Given the description of an element on the screen output the (x, y) to click on. 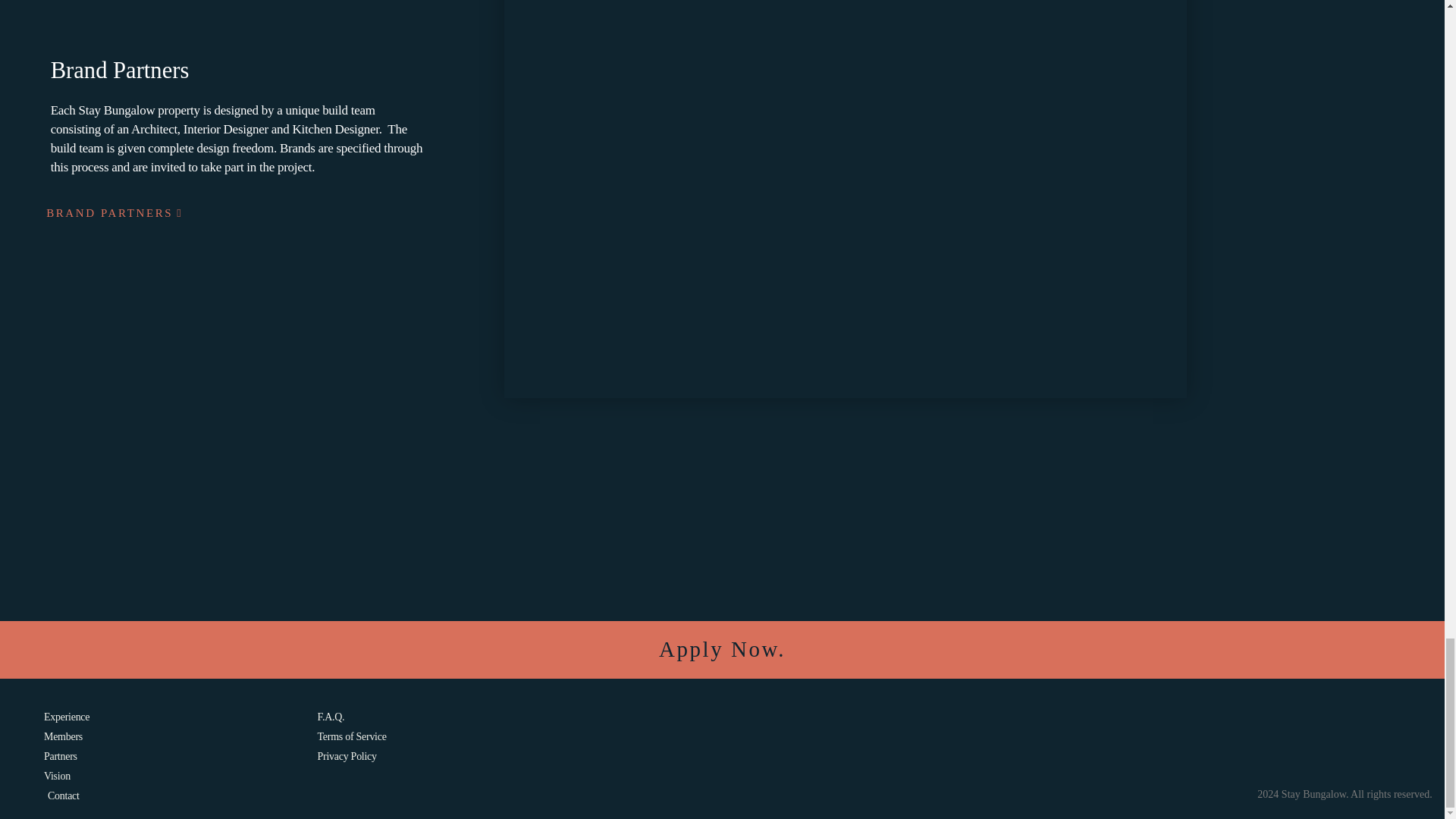
Experience (180, 716)
Members (180, 736)
Contact (180, 795)
Apply Now. (722, 648)
F.A.Q. (645, 716)
Terms of Service (645, 736)
BRAND PARTNERS (113, 212)
Partners (180, 756)
Vision (180, 775)
